Given the description of an element on the screen output the (x, y) to click on. 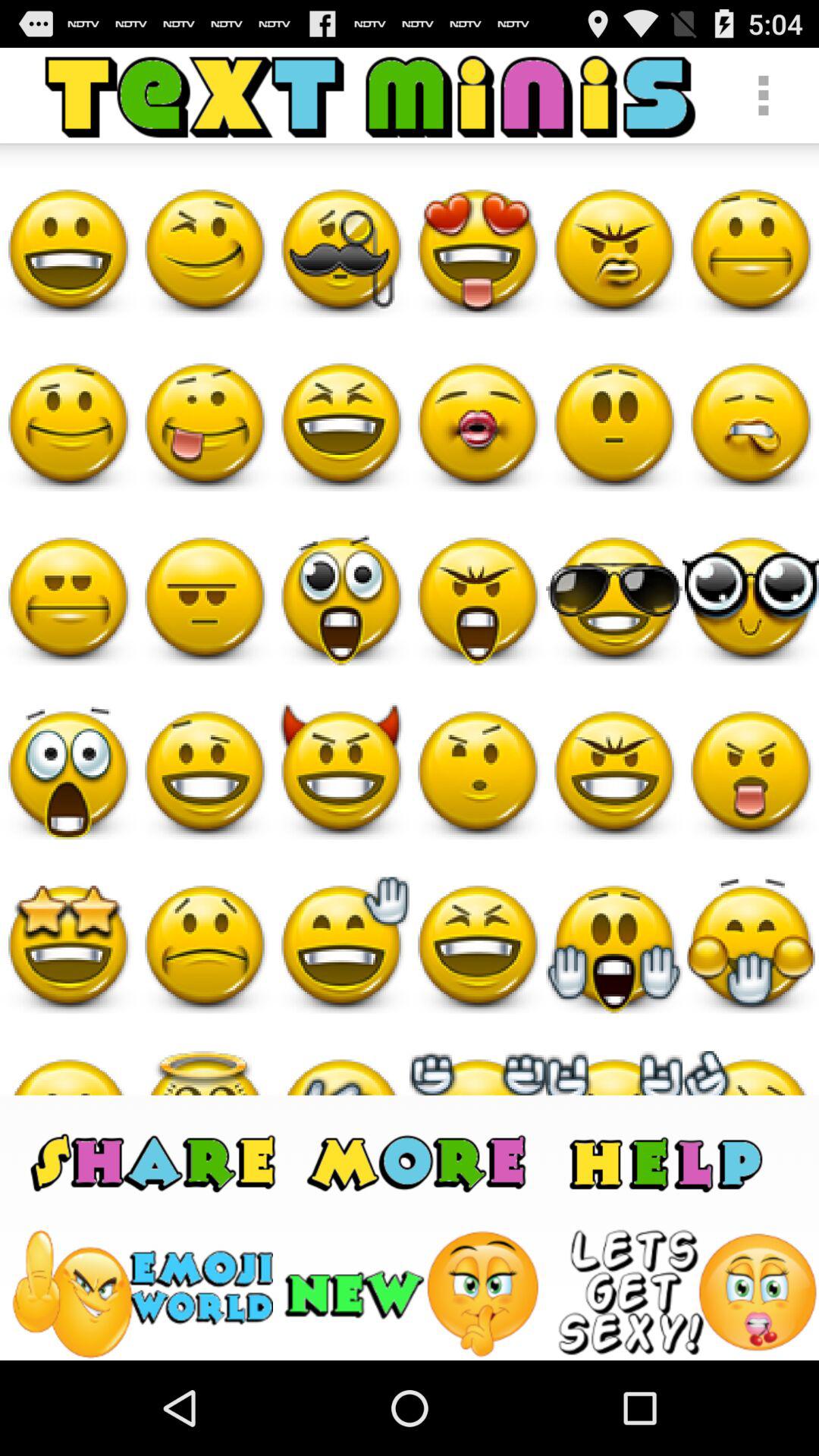
emoji sexy (687, 1293)
